Given the description of an element on the screen output the (x, y) to click on. 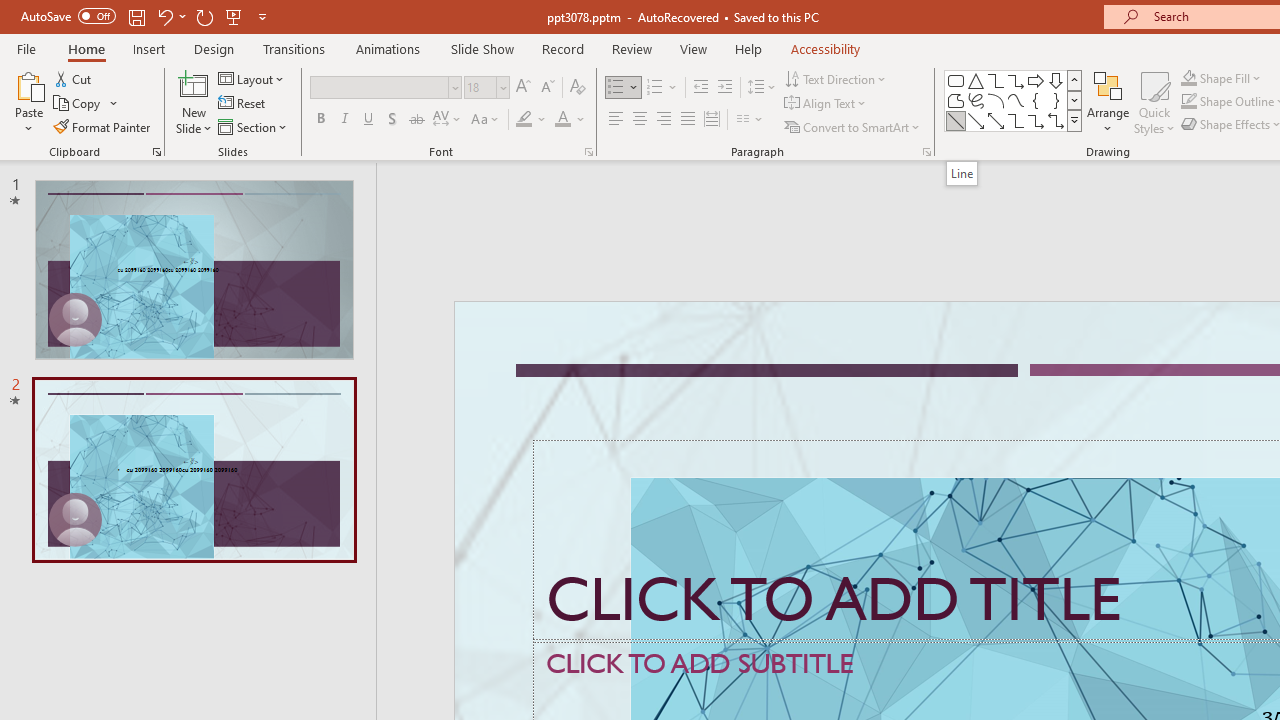
wangyian_dsw - DSW (181, 321)
Edge (905, 82)
Class: menubar compact overflow-menu-only (135, 322)
test.ipynb (864, 322)
Explorer Section: wangyian (331, 368)
